Given the description of an element on the screen output the (x, y) to click on. 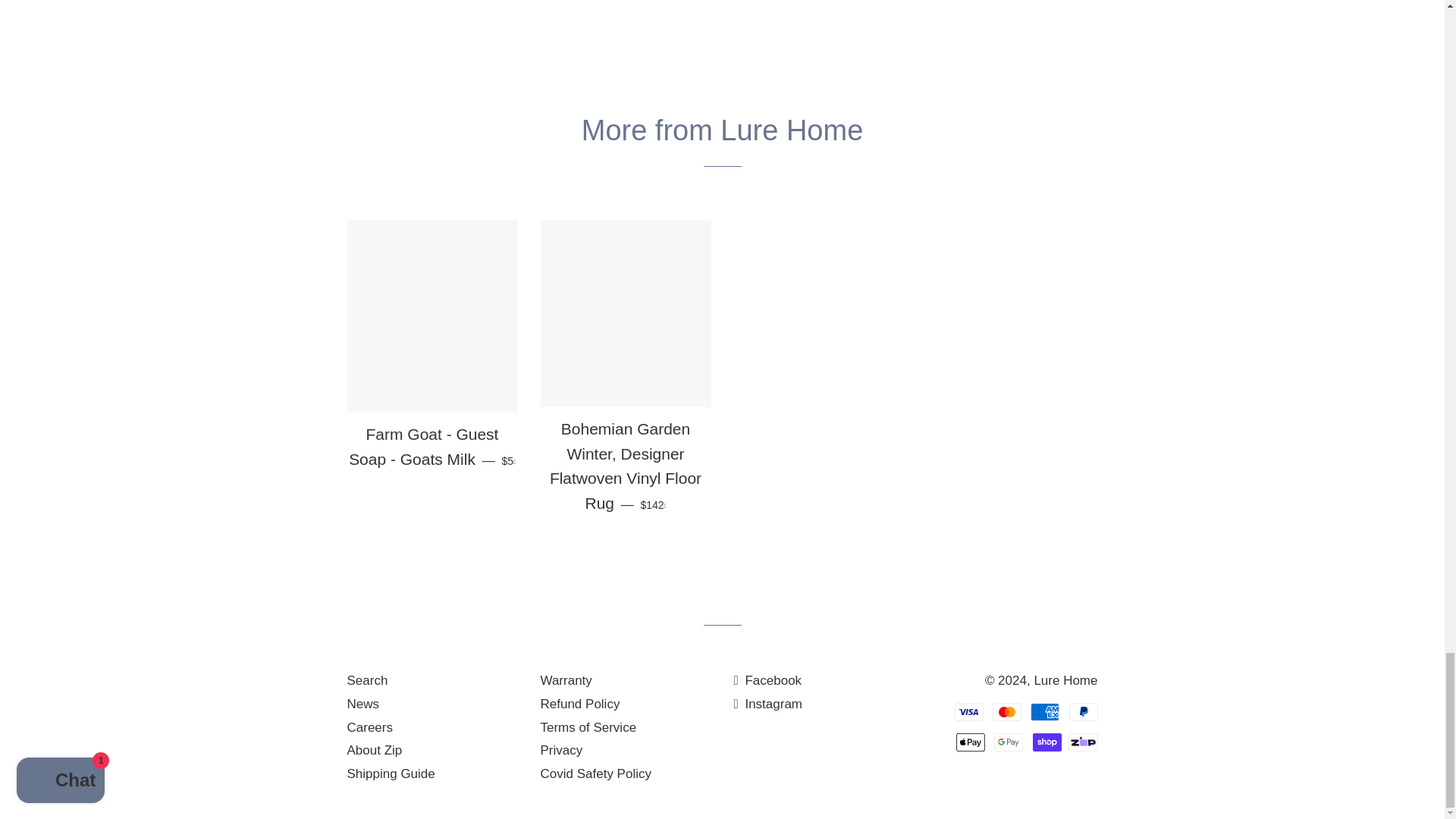
American Express (1044, 711)
Shop Pay (1046, 742)
Lure Home on Instagram (768, 703)
Google Pay (1008, 742)
Lure Home on Facebook (767, 680)
Visa (969, 711)
Apple Pay (970, 742)
PayPal (1082, 711)
Mastercard (1007, 711)
